Given the description of an element on the screen output the (x, y) to click on. 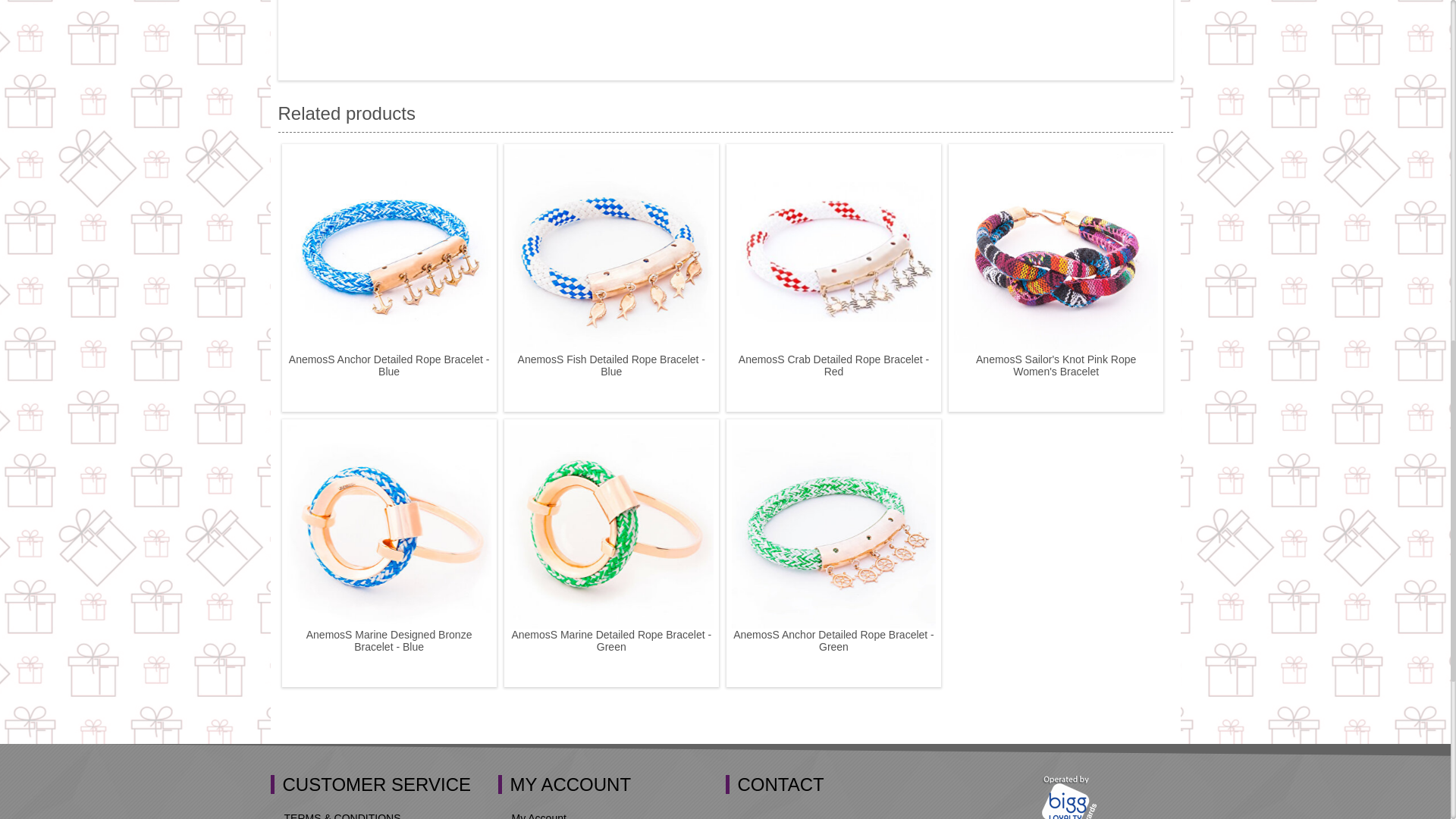
media.product.imagelinktitleformat (388, 250)
